Given the description of an element on the screen output the (x, y) to click on. 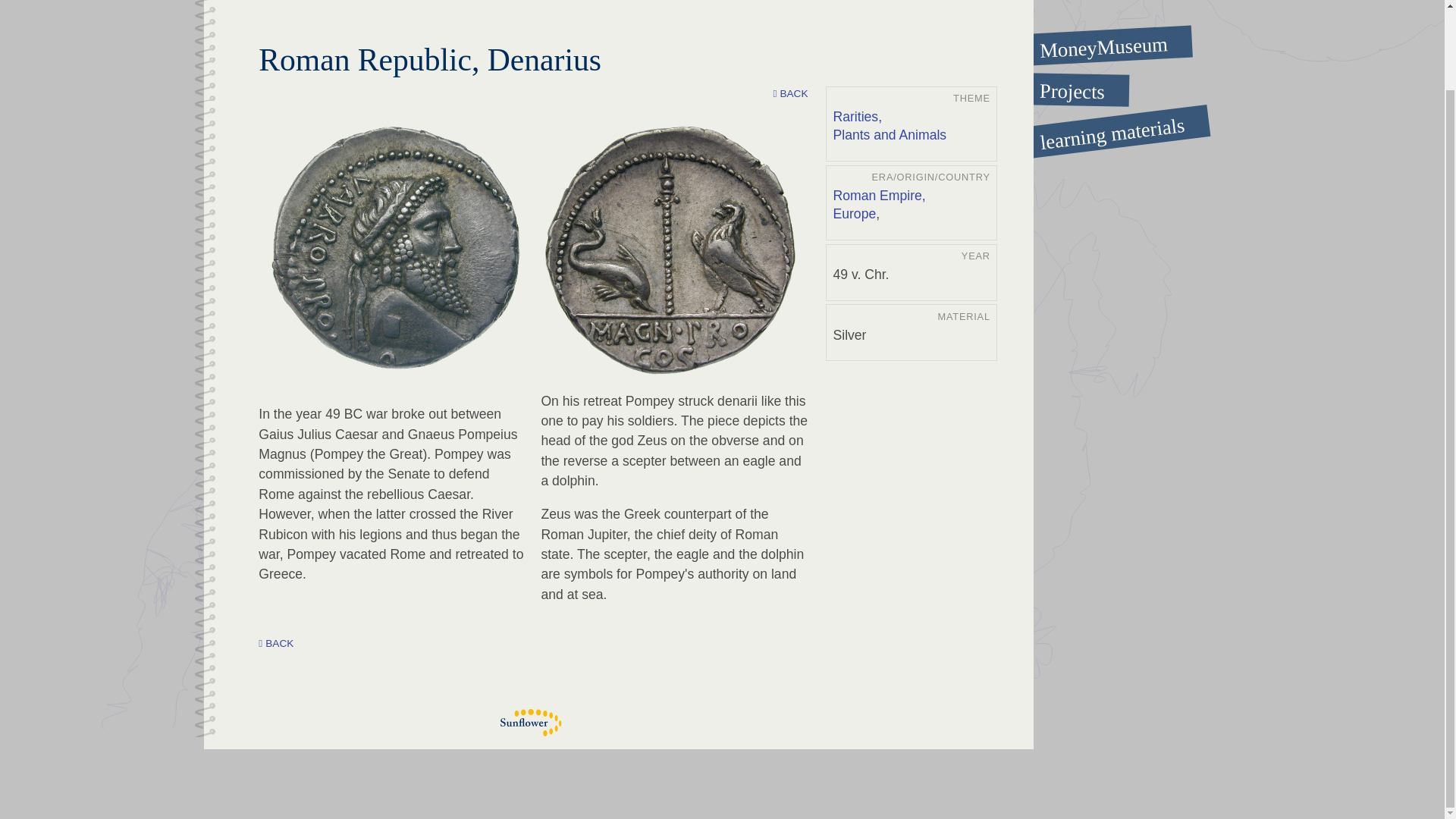
BACK (276, 643)
BACK (790, 94)
Projects (1097, 88)
learning materials (1096, 121)
MoneyMuseum (1096, 40)
Europe (854, 214)
Roman Empire (880, 196)
Plants and Animals (889, 135)
Rarities (858, 117)
